Given the description of an element on the screen output the (x, y) to click on. 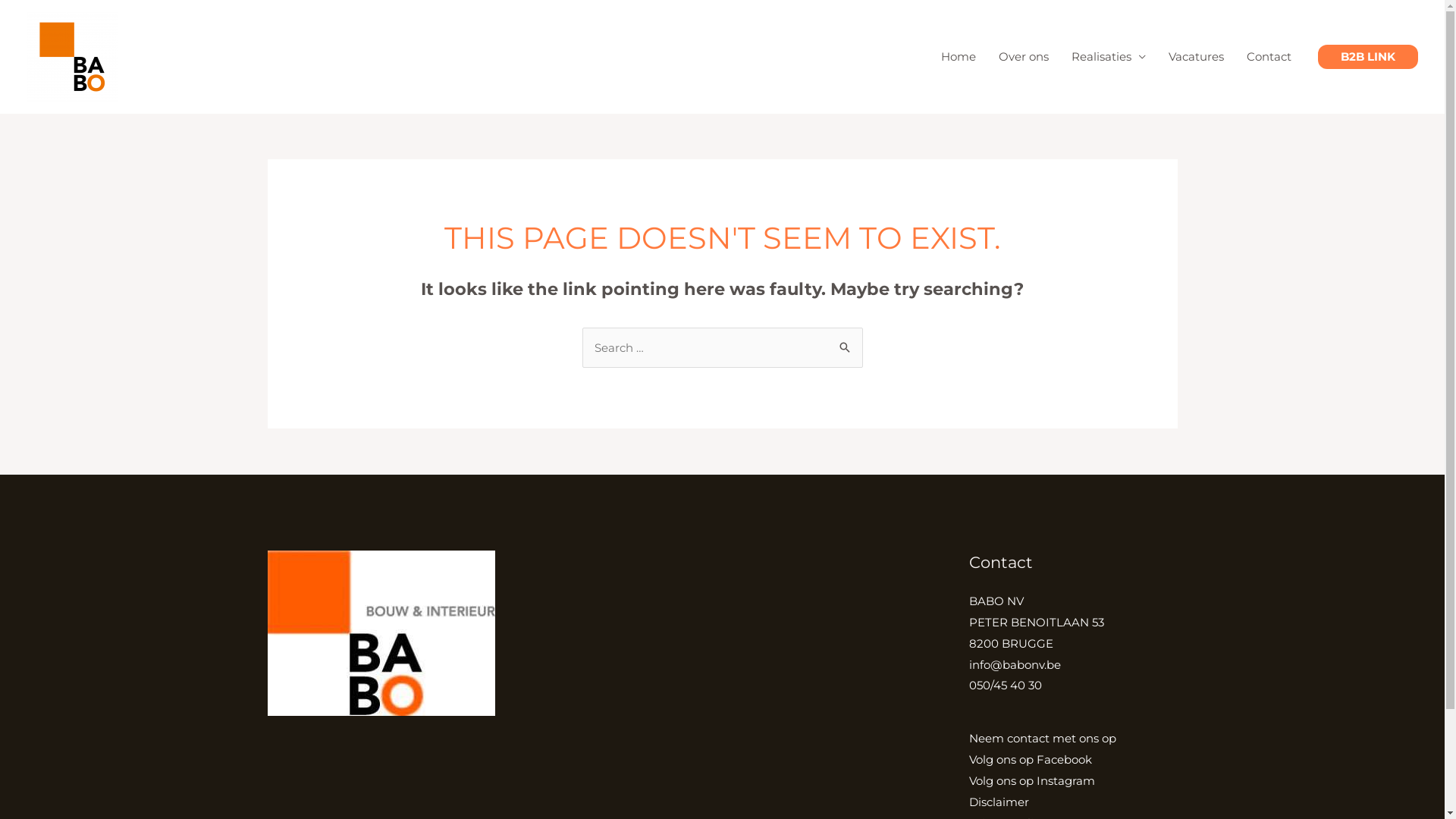
B2B LINK Element type: text (1367, 56)
Over ons Element type: text (1023, 56)
Volg ons op Facebook Element type: text (1030, 759)
Home Element type: text (958, 56)
Search Element type: text (845, 342)
Disclaimer Element type: text (999, 801)
Contact Element type: text (1268, 56)
Realisaties Element type: text (1108, 56)
Neem contact met ons op Element type: text (1042, 738)
Volg ons op Instagram Element type: text (1032, 780)
Vacatures Element type: text (1196, 56)
